Given the description of an element on the screen output the (x, y) to click on. 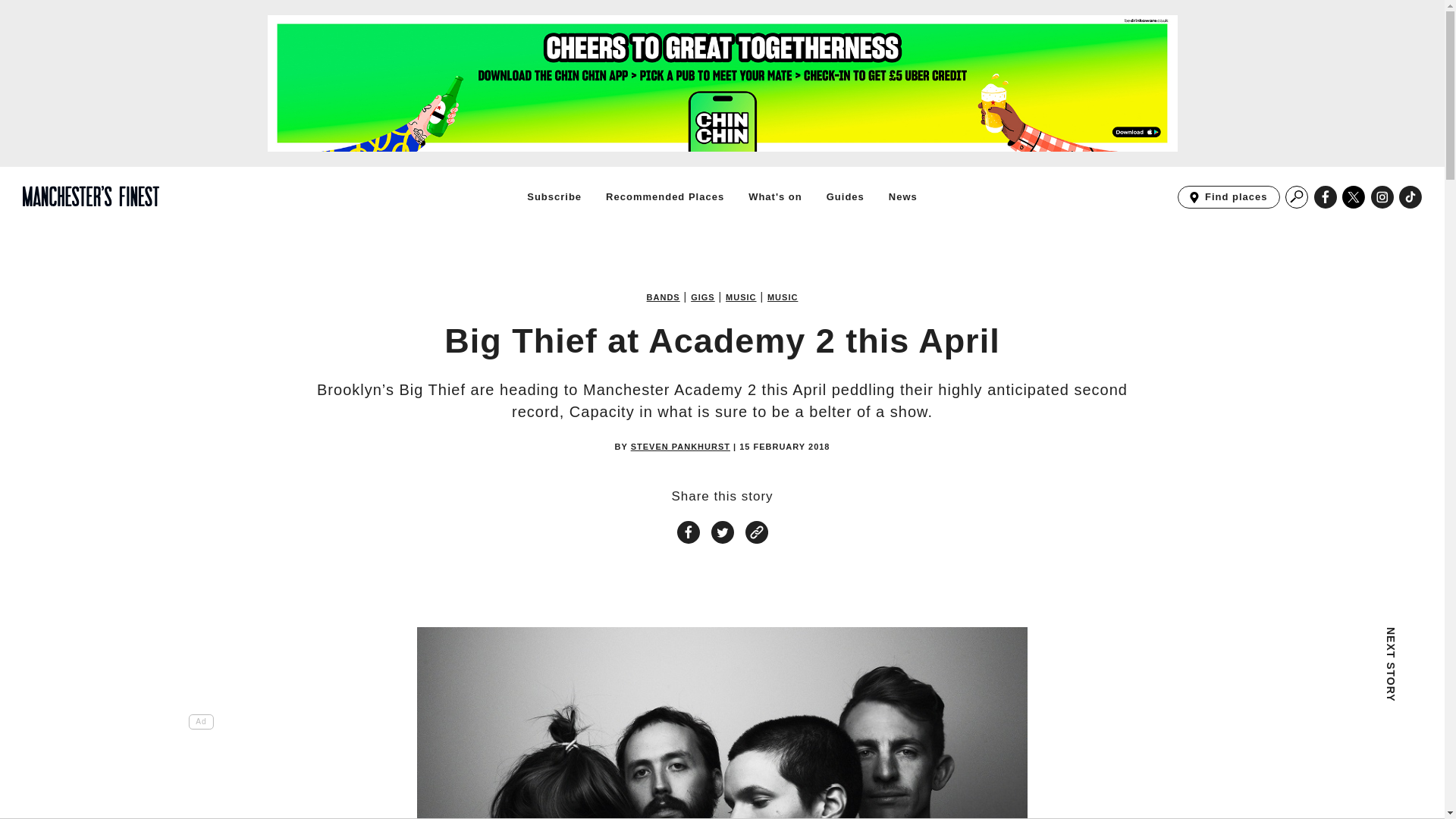
Go to Manchester's Finest Facebook page (1325, 196)
STEVEN PANKHURST (680, 446)
Go to Manchester's Finest TikTok profile (1410, 196)
Go to Manchester's Finest X profile (1353, 196)
BANDS (662, 297)
Subscribe (553, 196)
Guides (845, 196)
MUSIC (782, 297)
MUSIC (740, 297)
What's on (775, 196)
GIGS (702, 297)
Go to Manchester's Finest Facebook page (1325, 196)
Go to Manchester's Finest Instagram profile (1382, 196)
Go to Manchester's Finest Instagram profile (1382, 196)
Search Manchester's Finest (1296, 196)
